Given the description of an element on the screen output the (x, y) to click on. 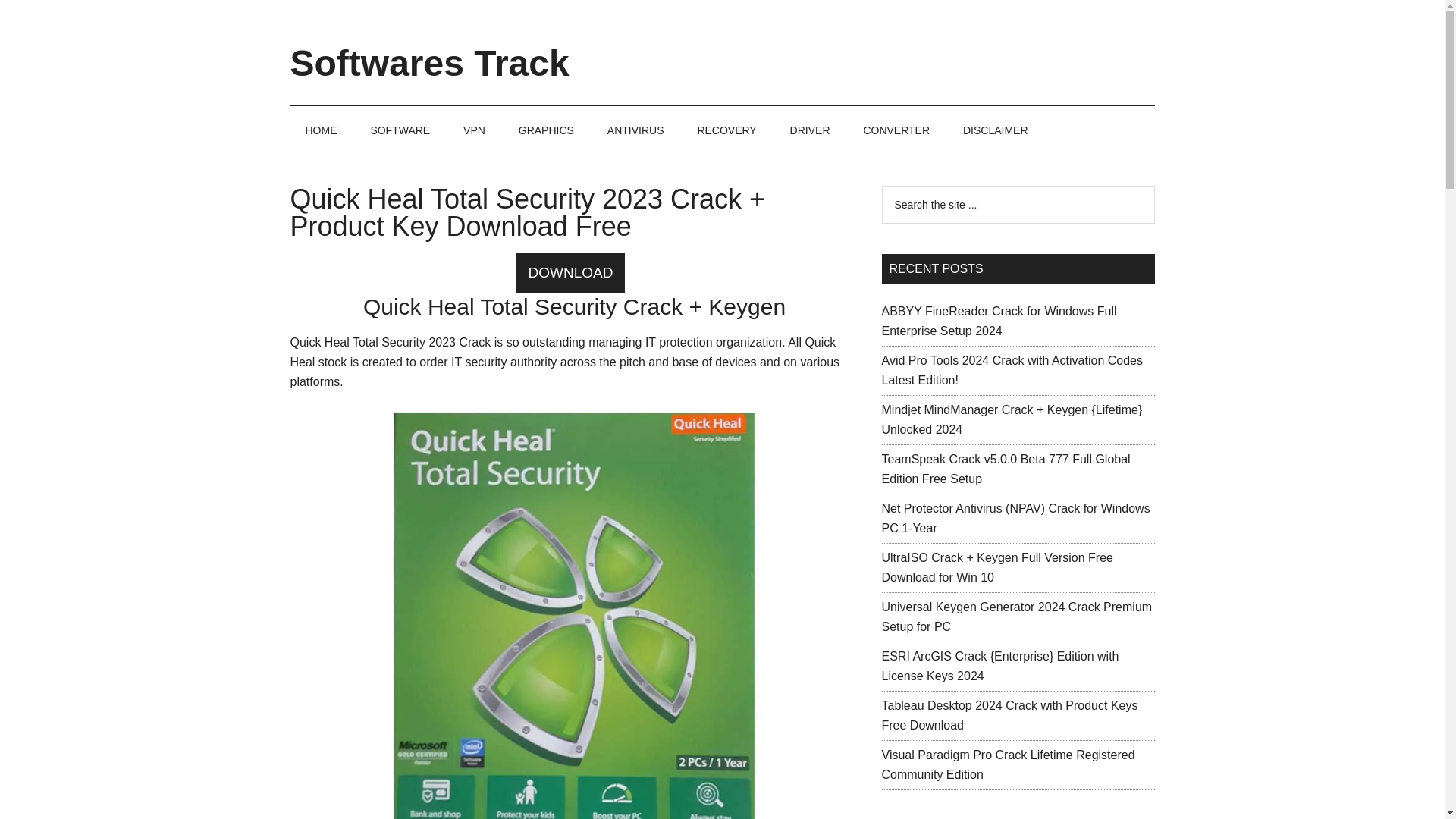
VPN (474, 130)
DOWNLOAD (571, 272)
HOME (320, 130)
DRIVER (809, 130)
Softwares Track (429, 63)
RECOVERY (726, 130)
GRAPHICS (546, 130)
DOWNLOAD (574, 273)
ANTIVIRUS (635, 130)
Tableau Desktop 2024 Crack with Product Keys Free Download (1008, 715)
CONVERTER (895, 130)
